Given the description of an element on the screen output the (x, y) to click on. 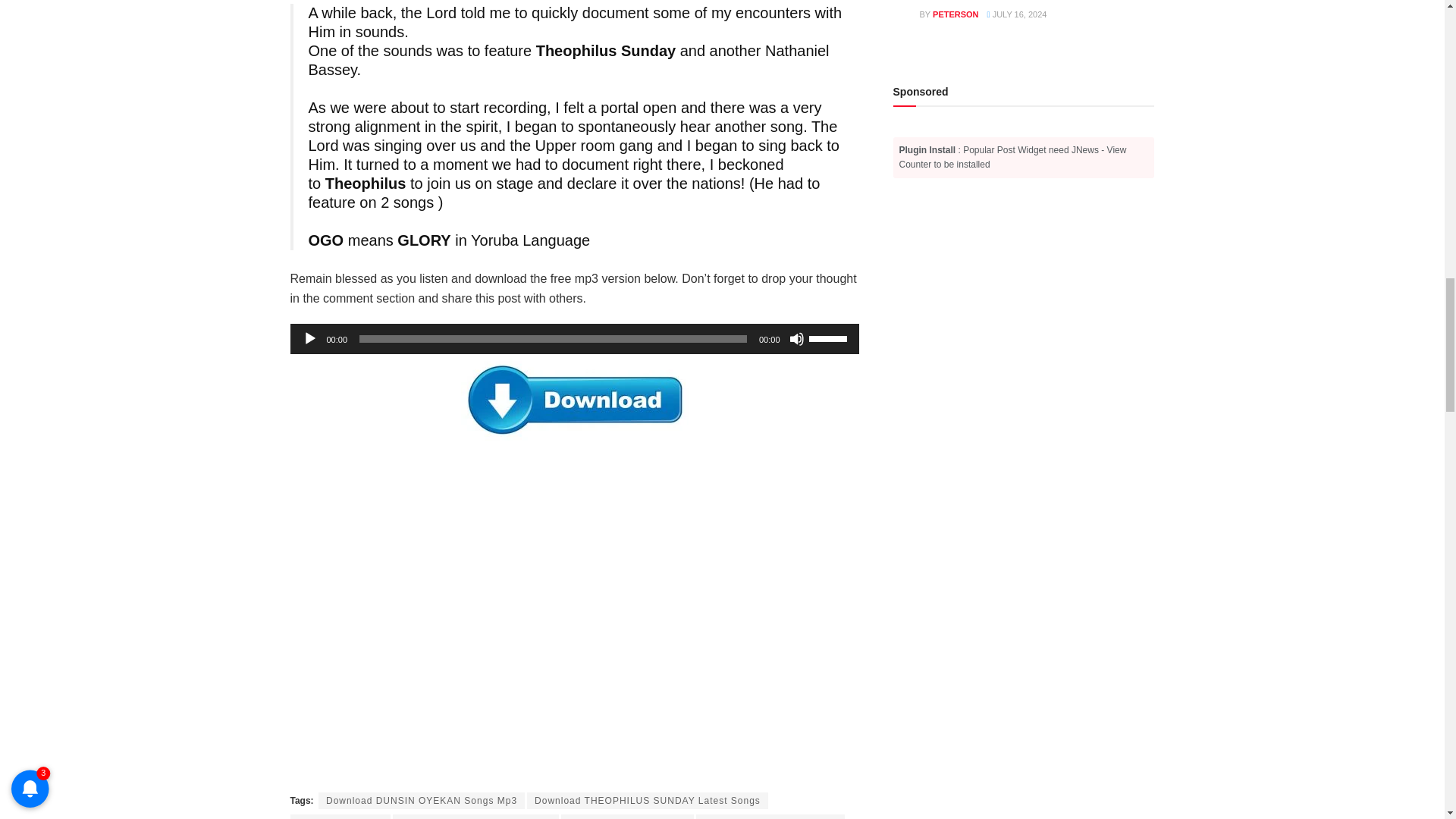
Mute (796, 338)
Play (309, 338)
